Given the description of an element on the screen output the (x, y) to click on. 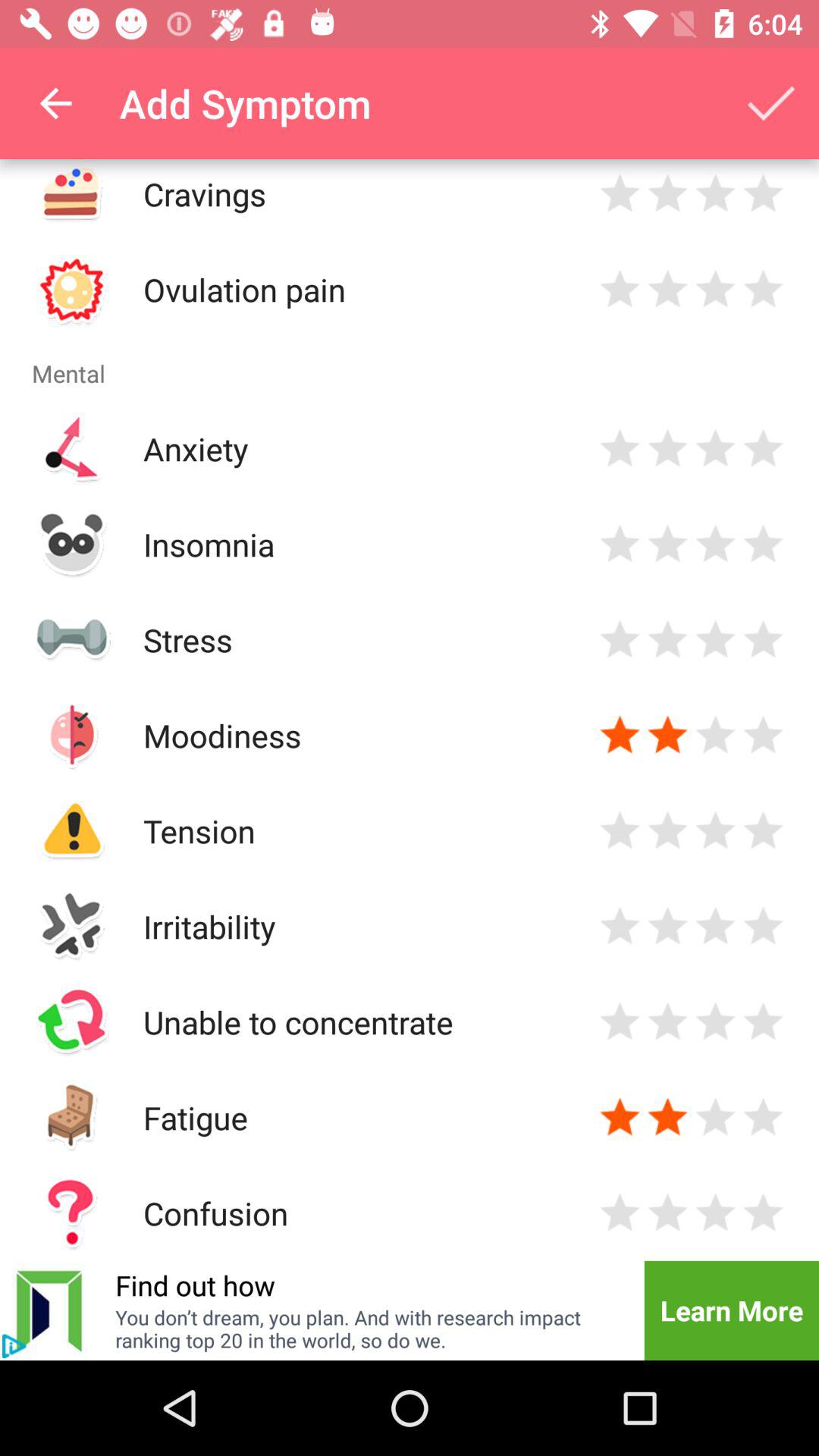
evaluation (715, 926)
